Given the description of an element on the screen output the (x, y) to click on. 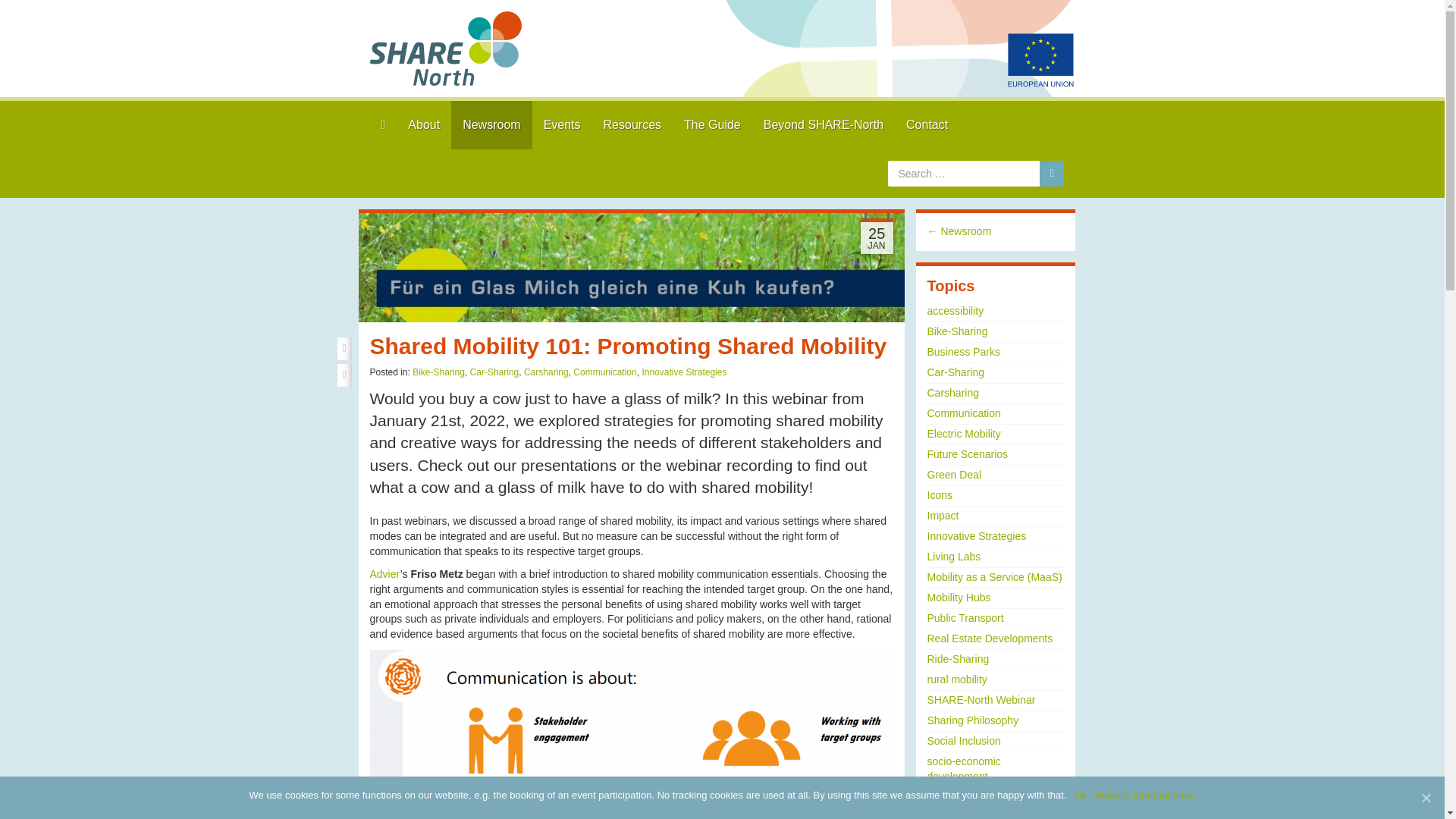
Carsharing (546, 371)
Car-Sharing (494, 371)
Car-Sharing (955, 372)
Homepage (339, 124)
Carsharing (952, 392)
About (423, 124)
Contact (927, 124)
Bike-Sharing (438, 371)
Communication (604, 371)
Events (562, 124)
Bike-Sharing (956, 331)
accessibility (955, 310)
Finden (1050, 173)
Resources (632, 124)
Beyond SHARE-North (823, 124)
